Given the description of an element on the screen output the (x, y) to click on. 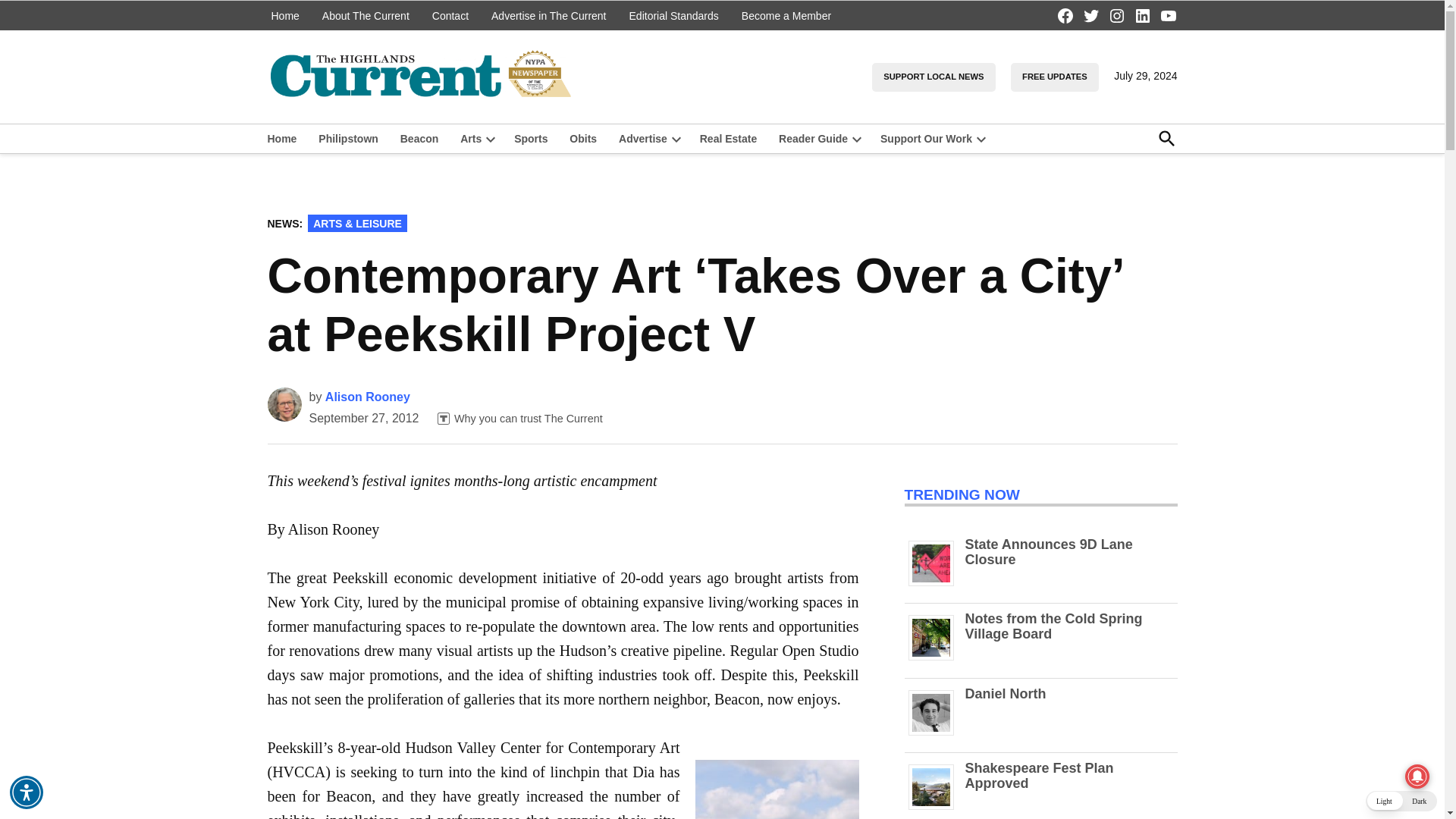
Daniel North (936, 735)
State Announces 9D Lane Closure (936, 585)
Daniel North (1004, 693)
State Announces 9D Lane Closure (1047, 552)
Notes from the Cold Spring Village Board (936, 659)
Shakespeare Fest Plan Approved (936, 809)
Notes from the Cold Spring Village Board (1052, 625)
Accessibility Menu (26, 792)
